Given the description of an element on the screen output the (x, y) to click on. 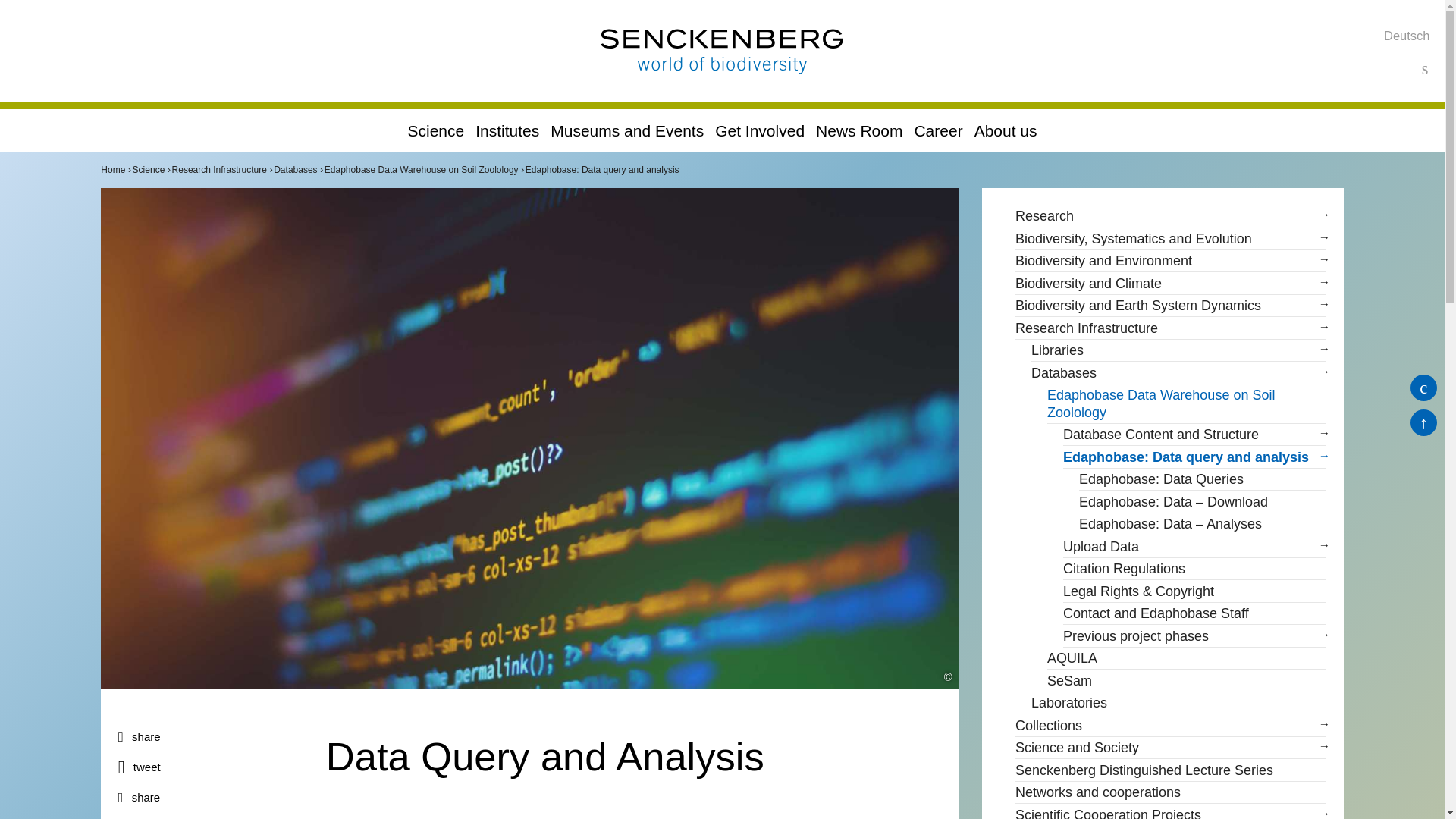
Science (435, 130)
Deutsch (1406, 35)
Share on Facebook (212, 736)
Send by email (212, 797)
Share on Twitter (212, 766)
